Given the description of an element on the screen output the (x, y) to click on. 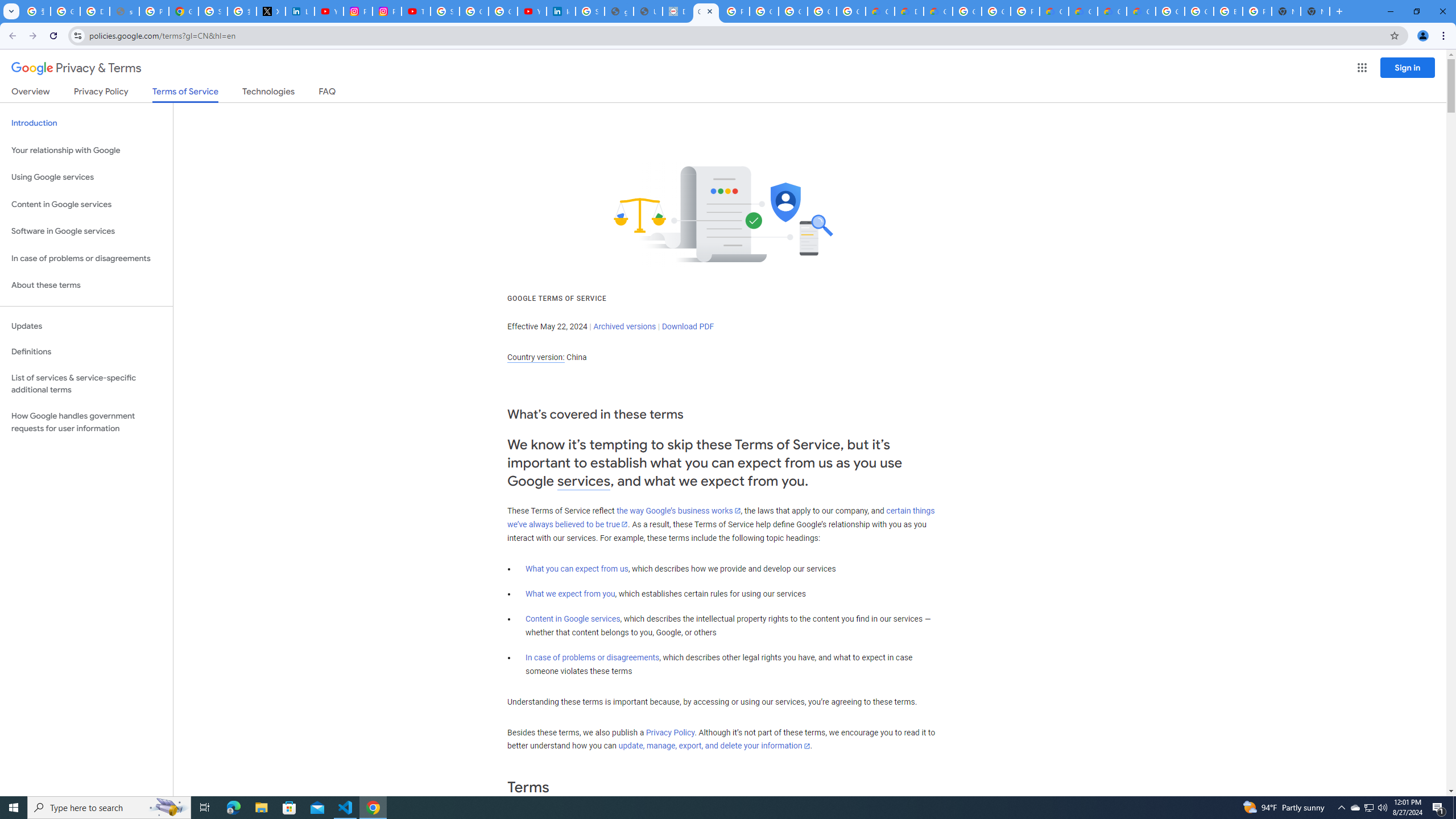
Archived versions (624, 326)
About these terms (86, 284)
User Details (648, 11)
X (271, 11)
Using Google services (86, 176)
Google Workspace - Specific Terms (821, 11)
What you can expect from us (576, 568)
Sign in - Google Accounts (212, 11)
